Given the description of an element on the screen output the (x, y) to click on. 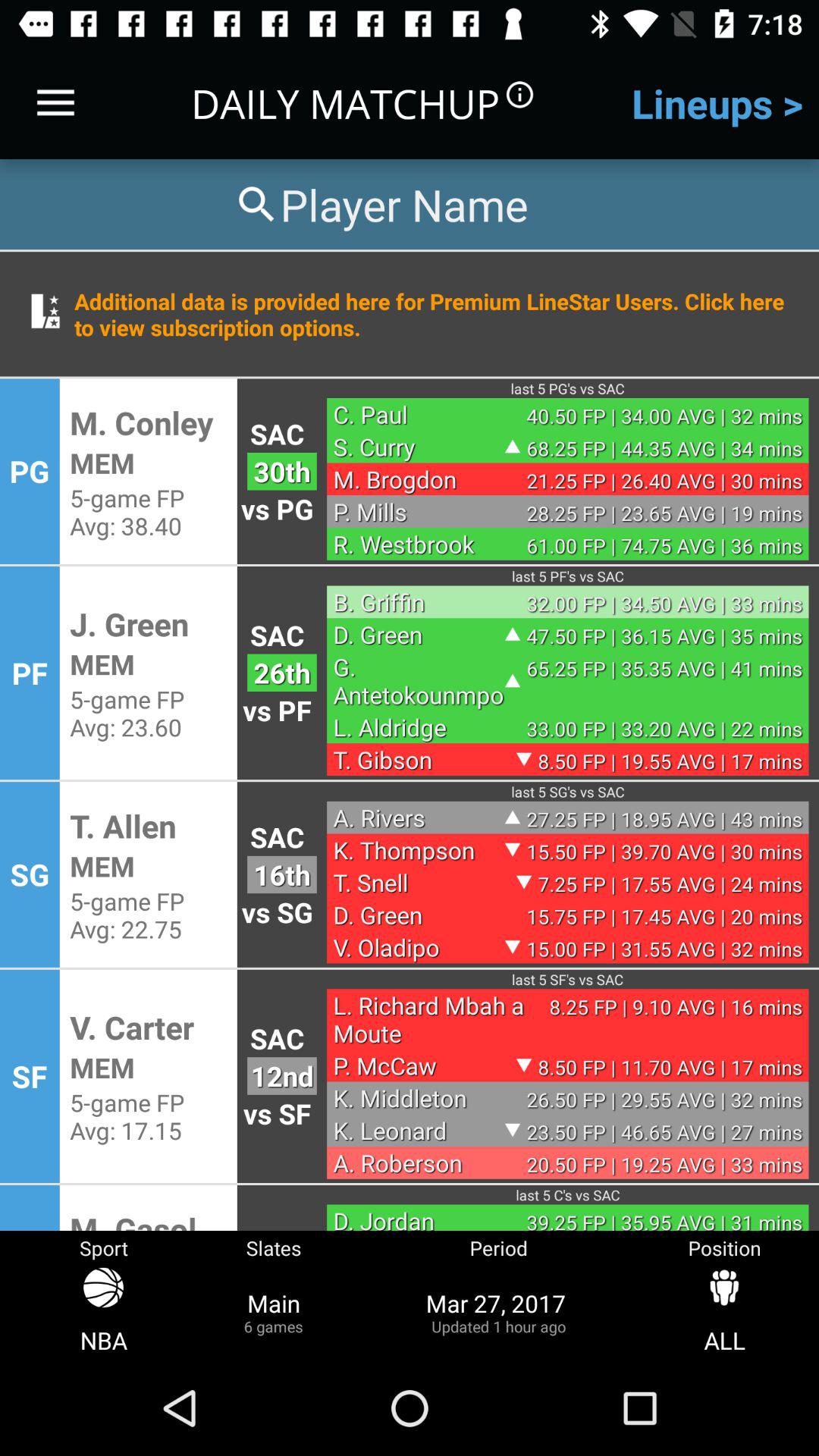
press icon next to the period icon (724, 1311)
